Given the description of an element on the screen output the (x, y) to click on. 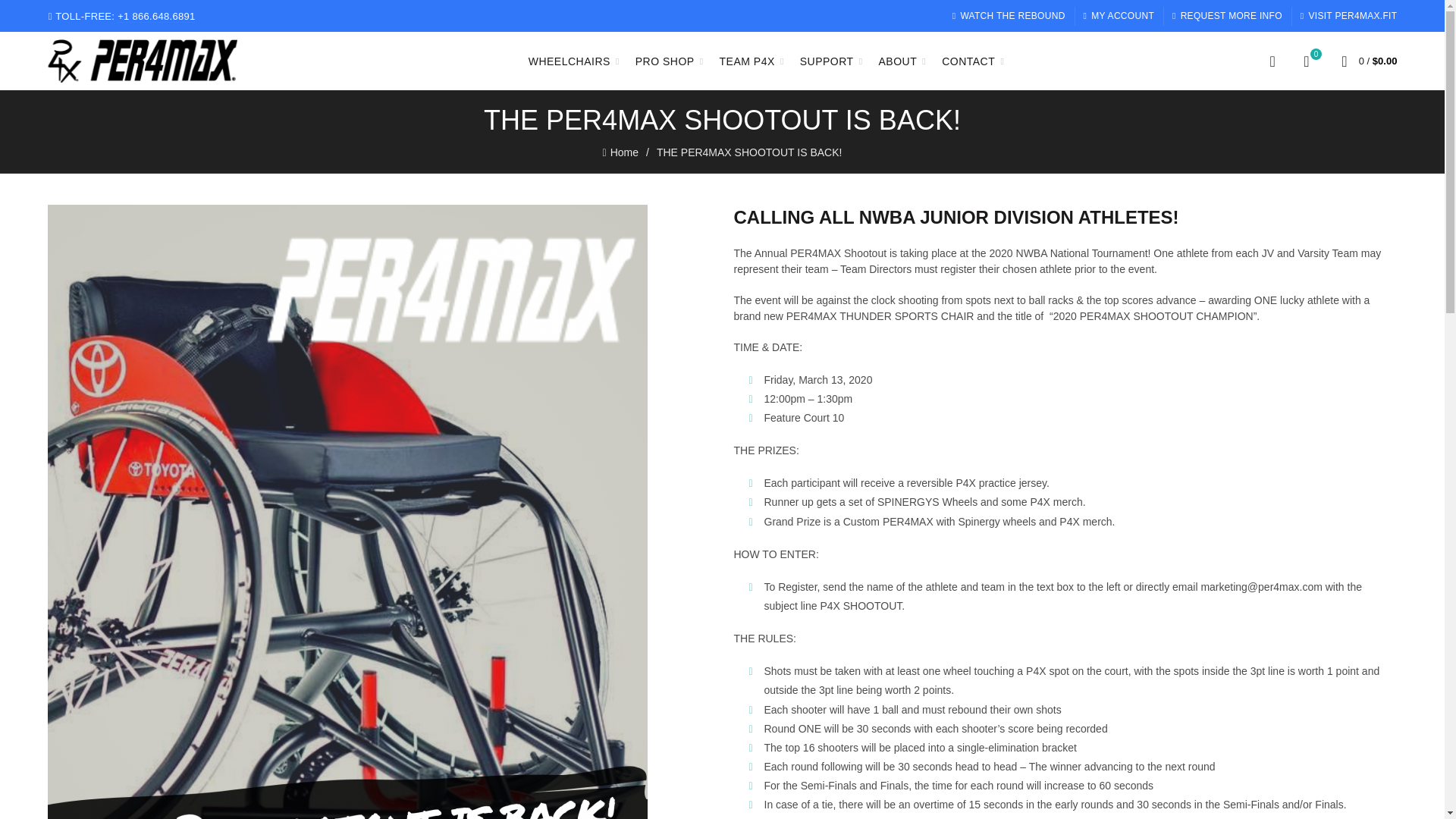
Click to Call (121, 16)
WATCH THE REBOUND (1008, 15)
